Given the description of an element on the screen output the (x, y) to click on. 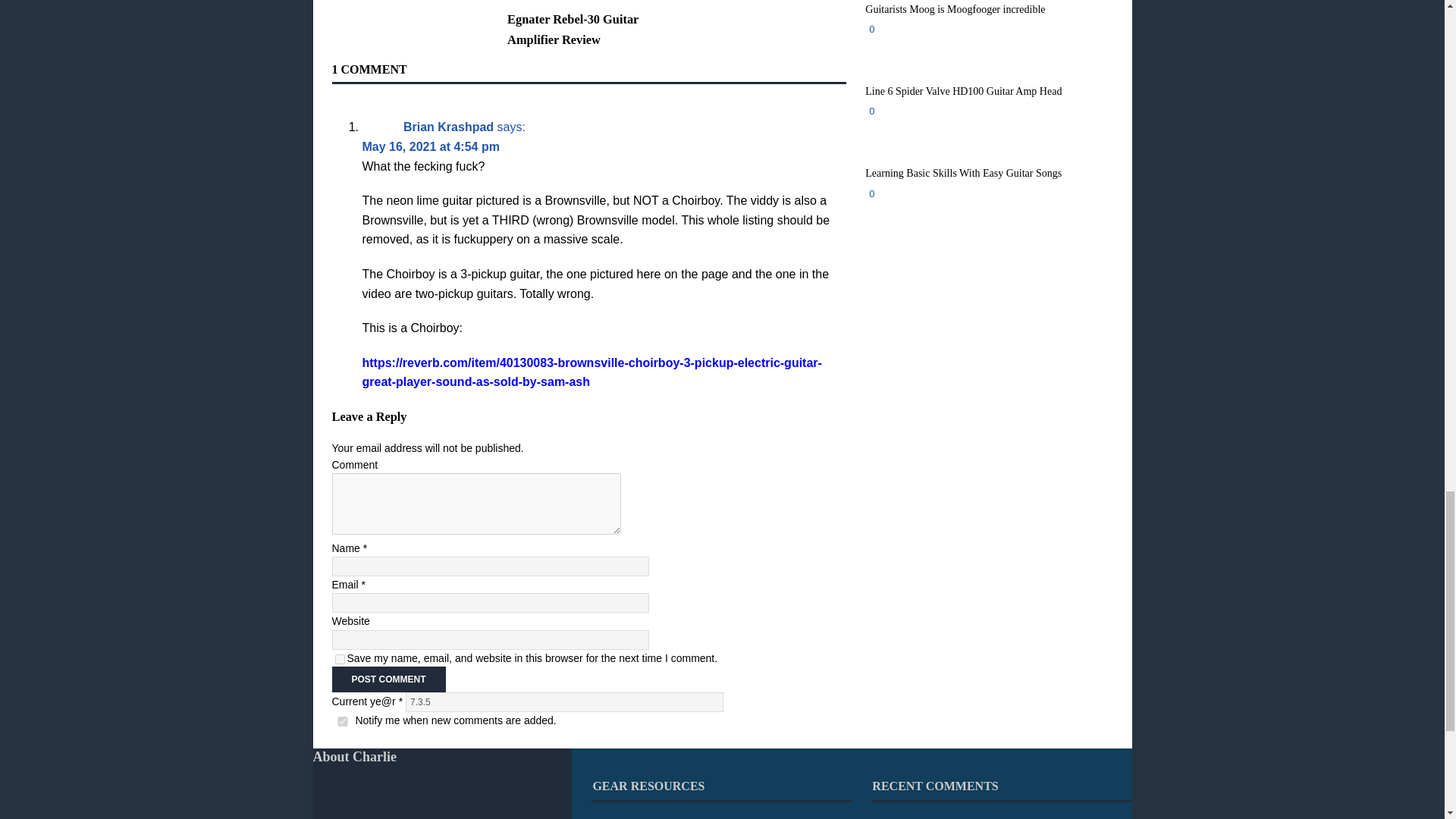
yes (339, 659)
1 (342, 721)
Egnater Rebel-30 Guitar Amplifier Review (572, 28)
Post Comment (388, 679)
7.3.5 (564, 701)
